Given the description of an element on the screen output the (x, y) to click on. 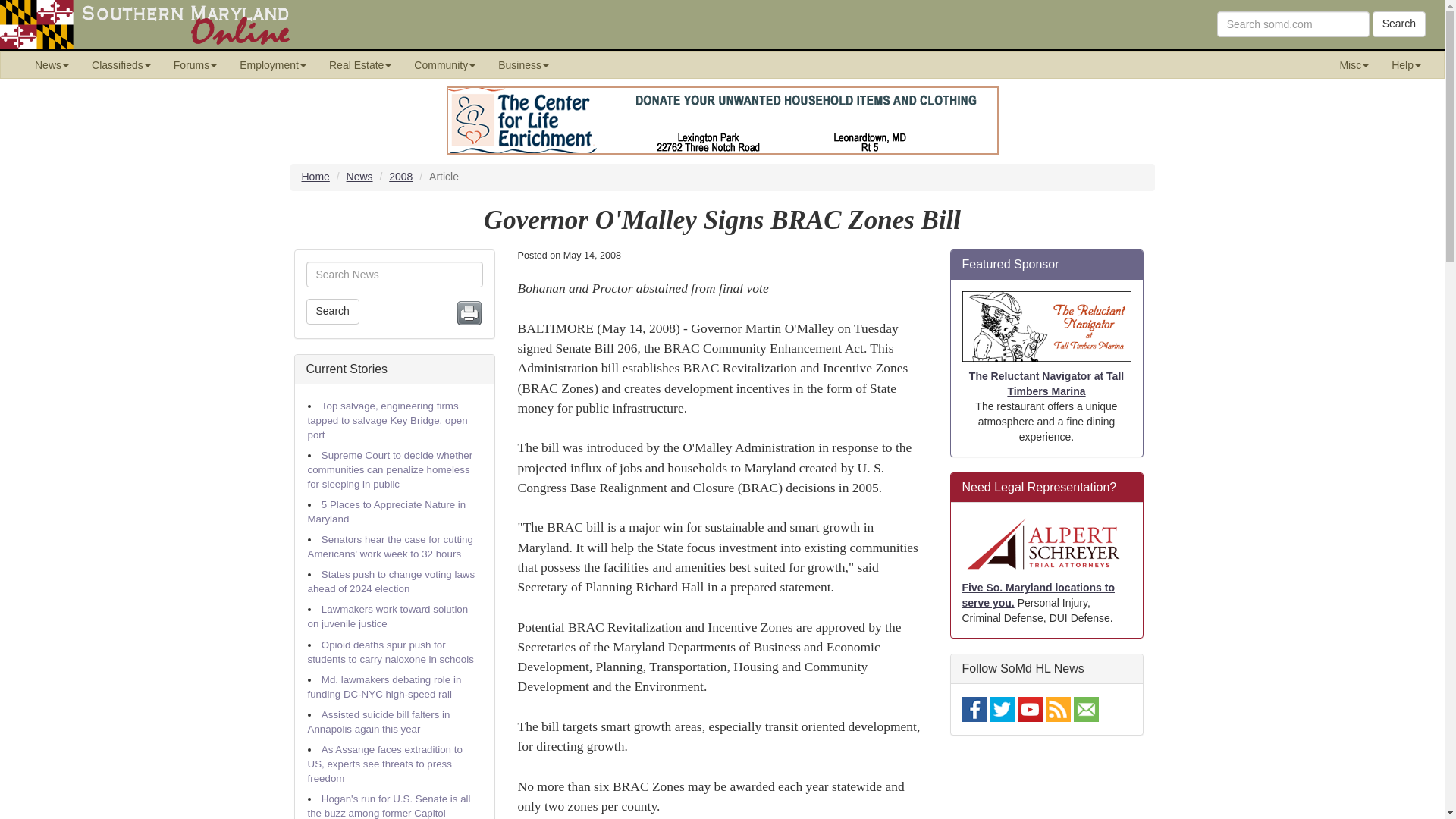
Forums (194, 64)
Classifieds (120, 64)
Search (1399, 23)
News (51, 64)
Vintage Values (721, 120)
Advertisement (1045, 785)
